Given the description of an element on the screen output the (x, y) to click on. 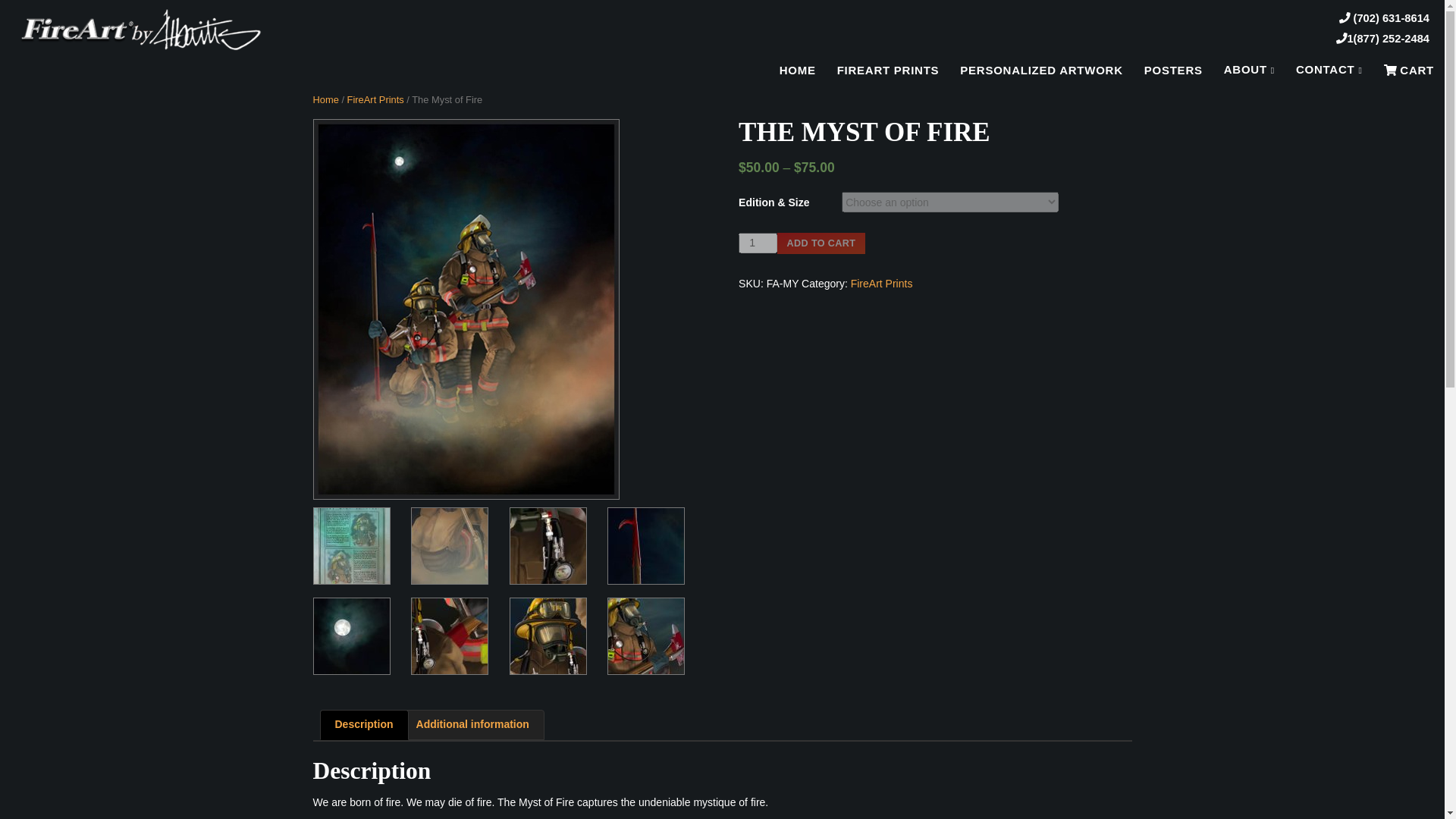
FA-MY-7 (645, 545)
CONTACT (1329, 69)
ABOUT (1248, 69)
ADD TO CART (820, 242)
FA-MY-6 (351, 635)
FireArt Prints (375, 99)
Qty (757, 242)
FA-MY-5 (448, 635)
Home (325, 99)
FireArt Prints (881, 283)
FA-MY-3 (645, 635)
HOME (797, 70)
FA-MY-9 (448, 545)
FA-MY-8 (547, 545)
FA-MY-4 (547, 635)
